Given the description of an element on the screen output the (x, y) to click on. 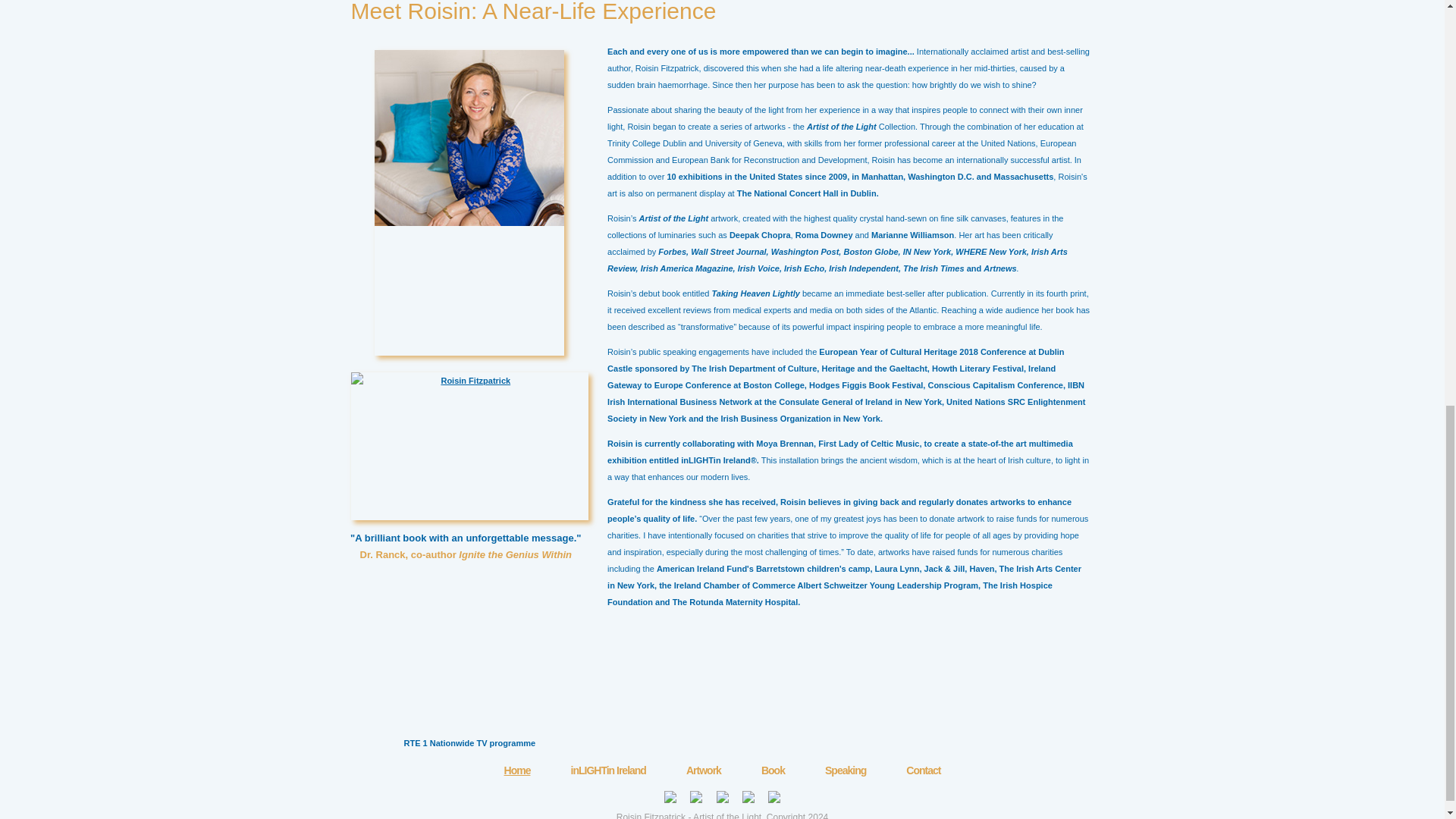
inLIGHTin Ireland (608, 770)
Book (772, 770)
Home (517, 770)
Speaking (845, 770)
Contact (922, 770)
Artwork (702, 770)
